Given the description of an element on the screen output the (x, y) to click on. 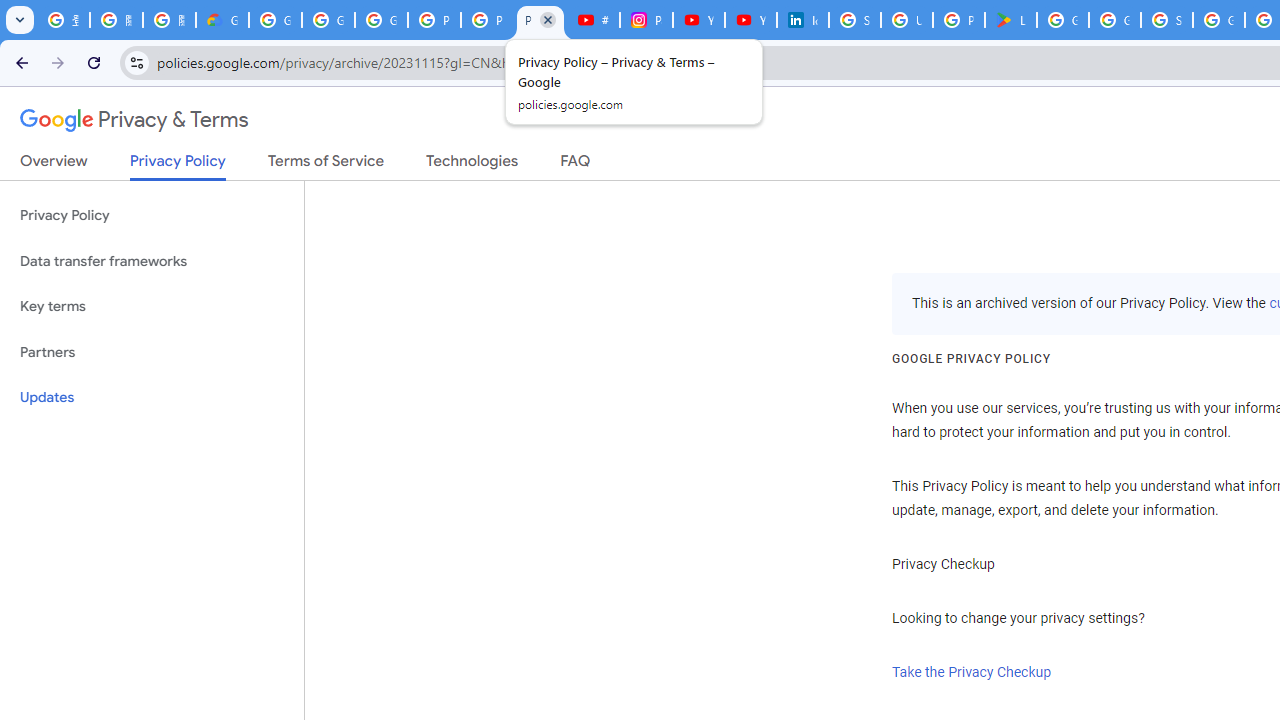
Privacy Help Center - Policies Help (487, 20)
Google Workspace - Specific Terms (1114, 20)
#nbabasketballhighlights - YouTube (593, 20)
